Given the description of an element on the screen output the (x, y) to click on. 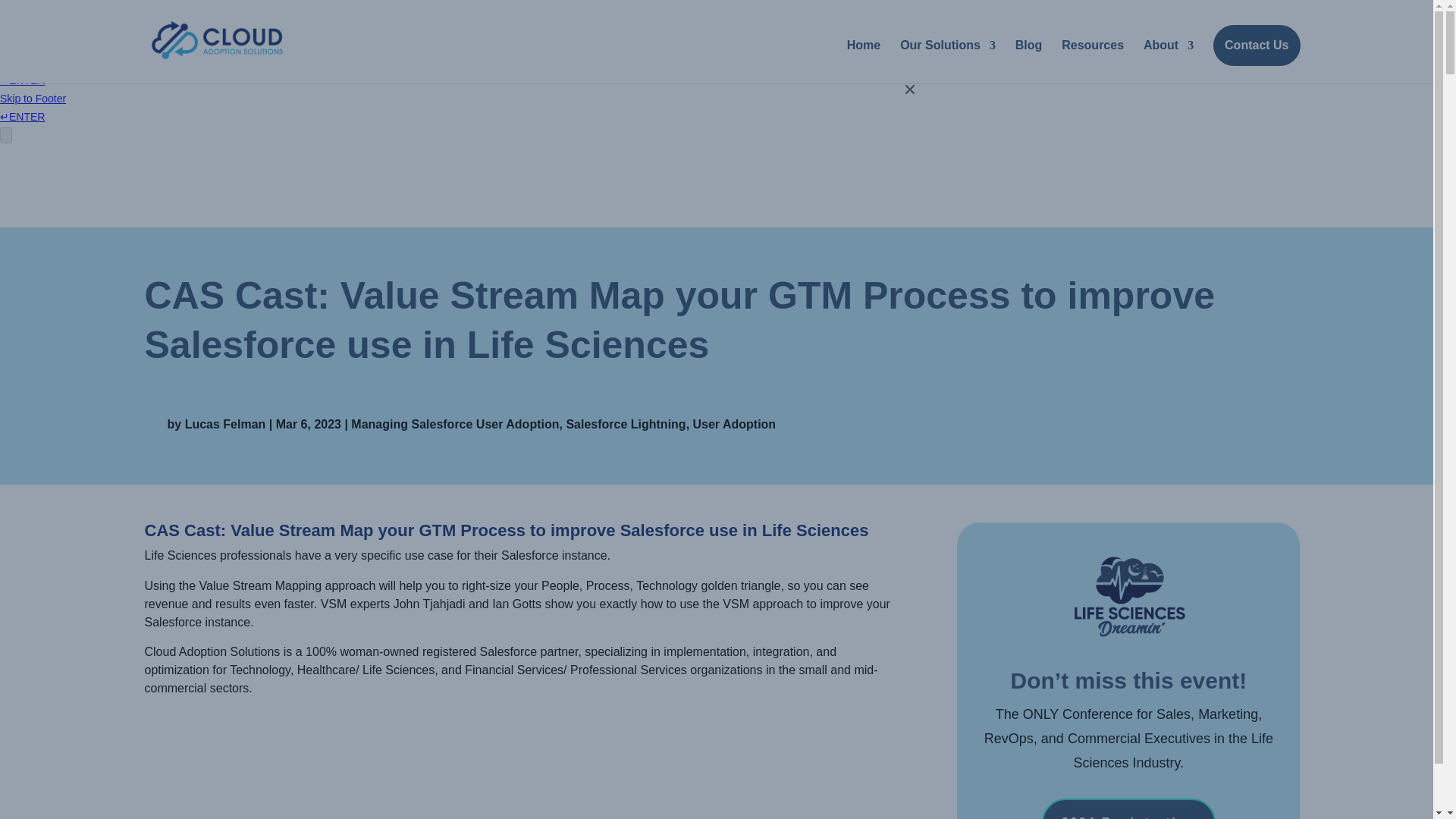
Posts by Lucas Felman (225, 423)
Home (863, 58)
LSD-logo-2024-color (1128, 595)
Lucas Felman (225, 423)
Salesforce Lightning (625, 423)
About (1167, 58)
User Adoption (734, 423)
Our Solutions (947, 58)
Contact Us (1256, 45)
Managing Salesforce User Adoption (454, 423)
Resources (1092, 58)
